Given the description of an element on the screen output the (x, y) to click on. 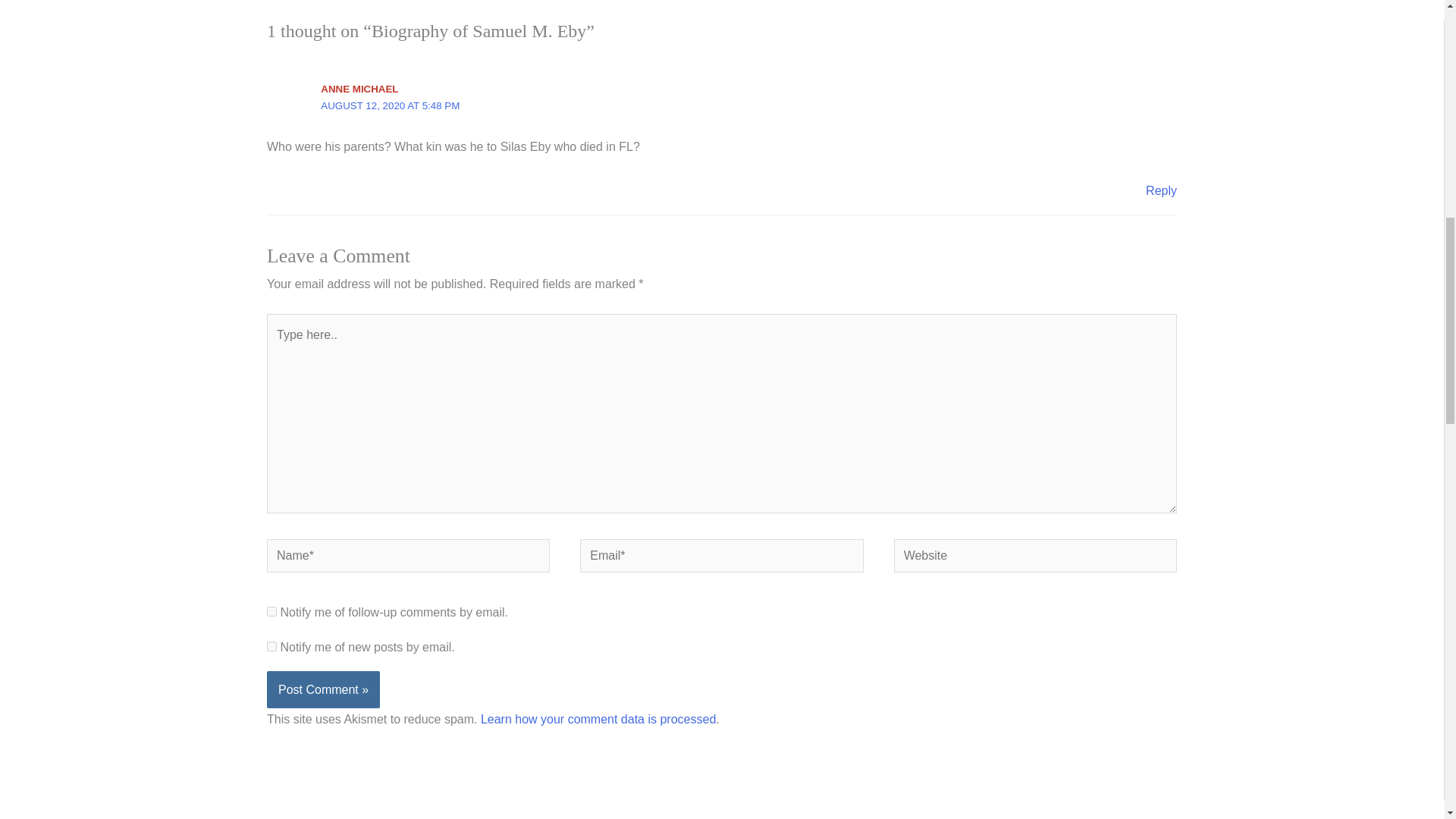
subscribe (271, 646)
Learn how your comment data is processed (598, 718)
Reply (1160, 190)
AUGUST 12, 2020 AT 5:48 PM (390, 105)
subscribe (271, 611)
